Given the description of an element on the screen output the (x, y) to click on. 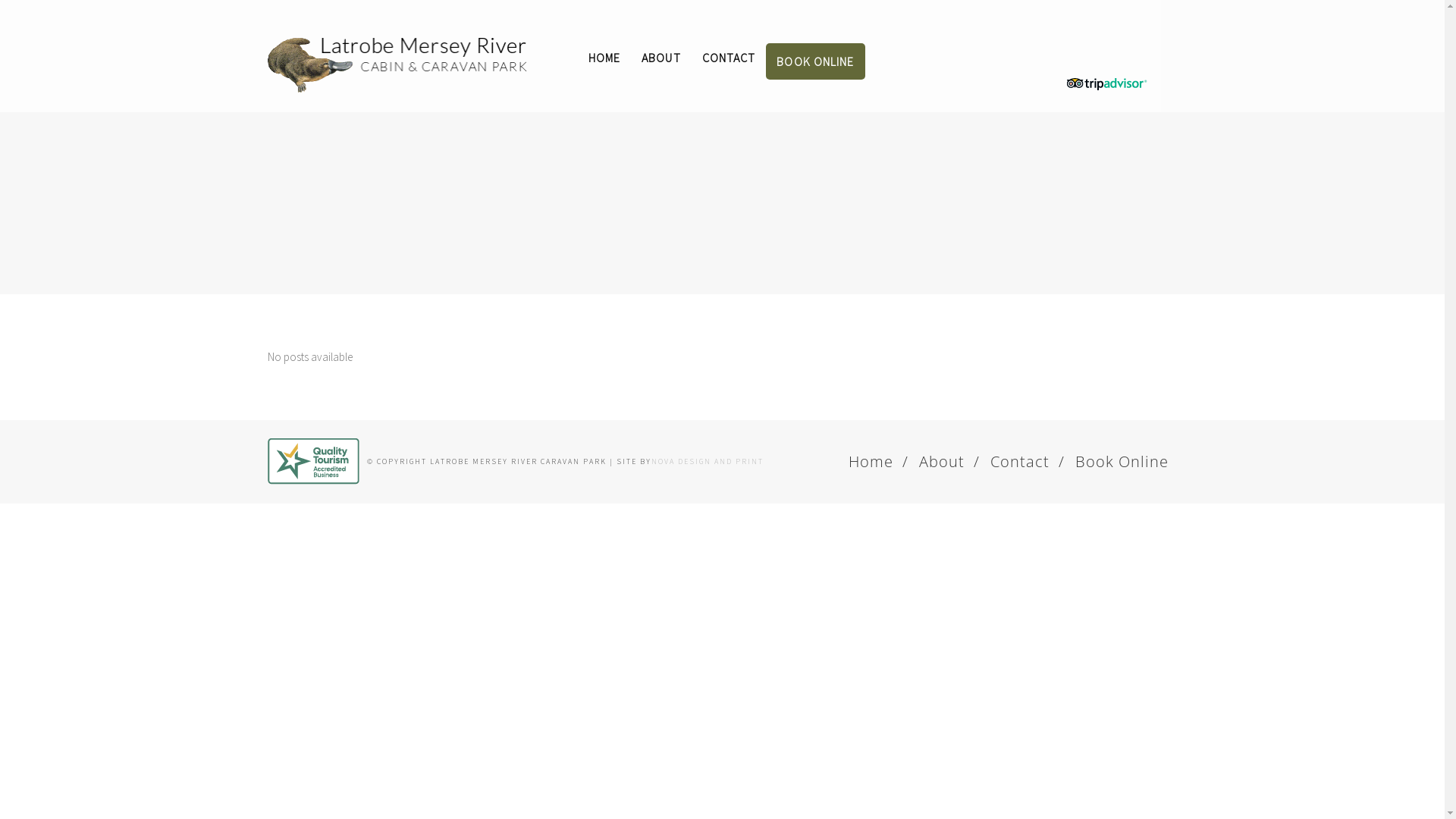
HOME Element type: text (603, 57)
ABOUT Element type: text (660, 57)
Home Element type: text (869, 460)
Contact Element type: text (1019, 460)
NOVA DESIGN AND PRINT Element type: text (706, 461)
About Element type: text (941, 460)
Book Online Element type: text (1121, 460)
CONTACT Element type: text (728, 57)
BOOK ONLINE Element type: text (814, 61)
